Given the description of an element on the screen output the (x, y) to click on. 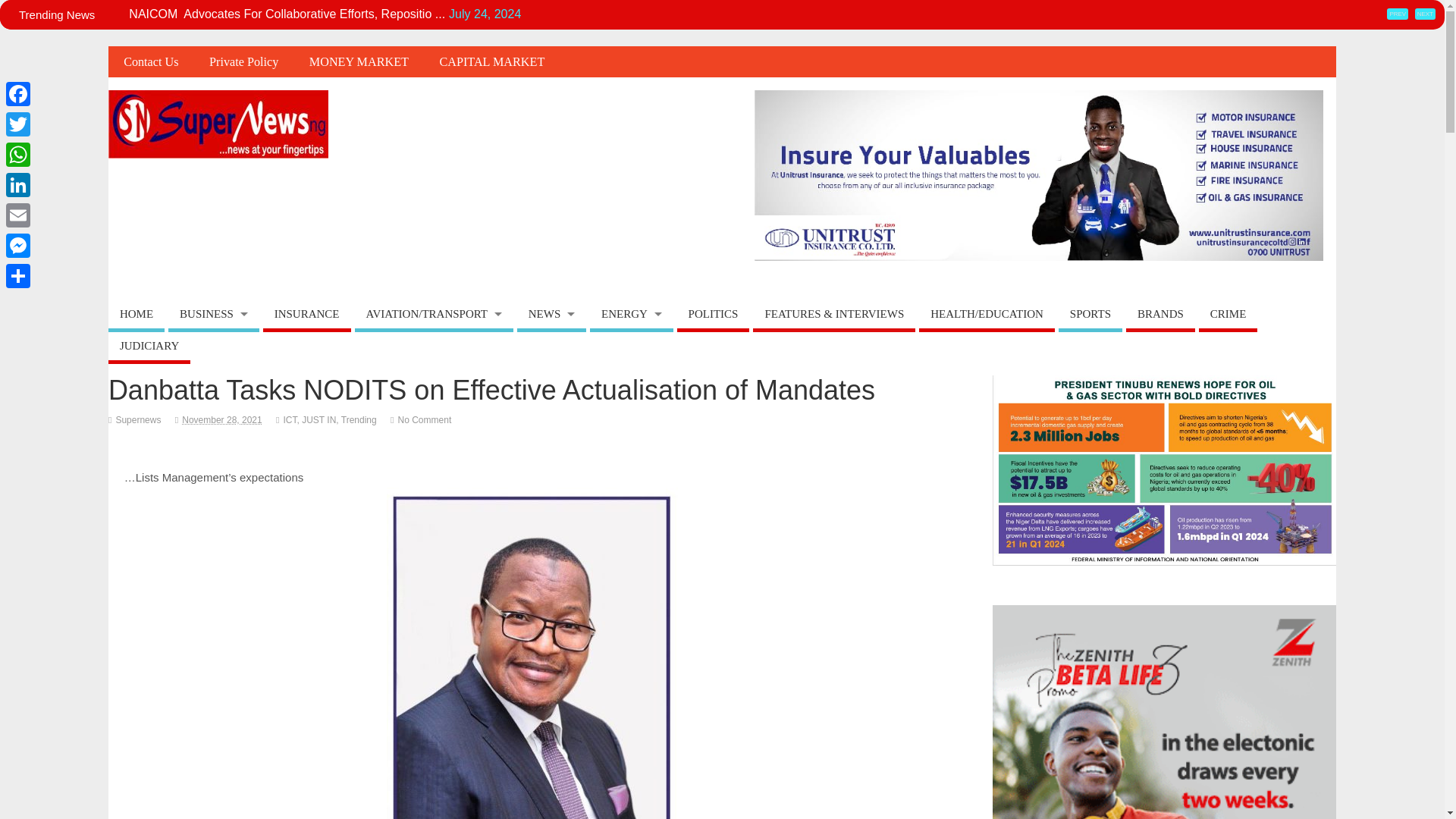
Private Policy (243, 60)
Contact Us (150, 60)
Posts by Supernews (137, 419)
MONEY MARKET (359, 60)
NAICOM  Advocates For Collaborative Efforts, Repositio ... (287, 13)
CAPITAL MARKET (491, 60)
